Given the description of an element on the screen output the (x, y) to click on. 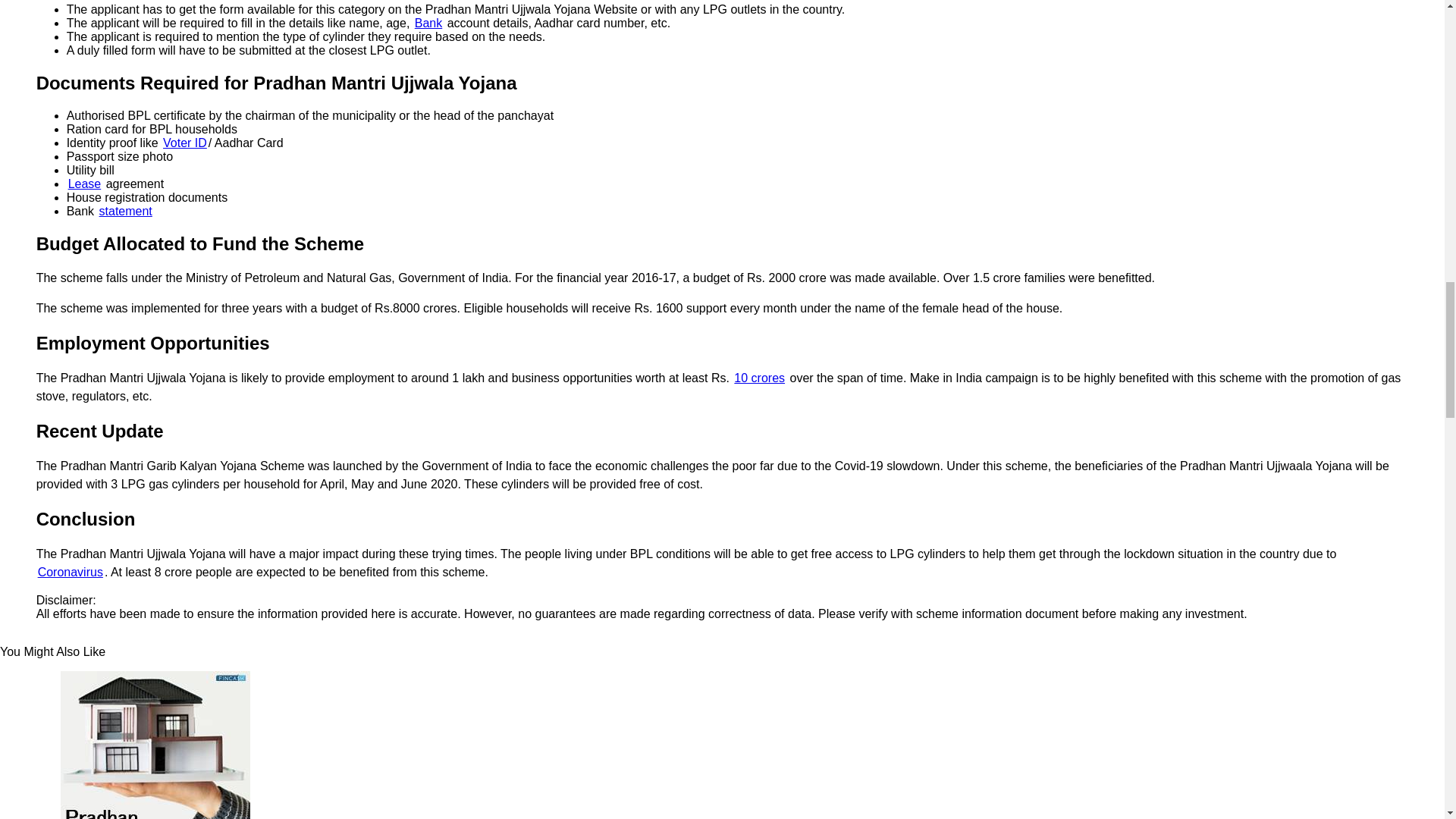
statement (125, 210)
Coronavirus (70, 571)
Bank (428, 22)
Pradhan Mantri Awas Yojana (155, 744)
Voter ID (184, 142)
Lease (84, 183)
10 crores (758, 377)
